Given the description of an element on the screen output the (x, y) to click on. 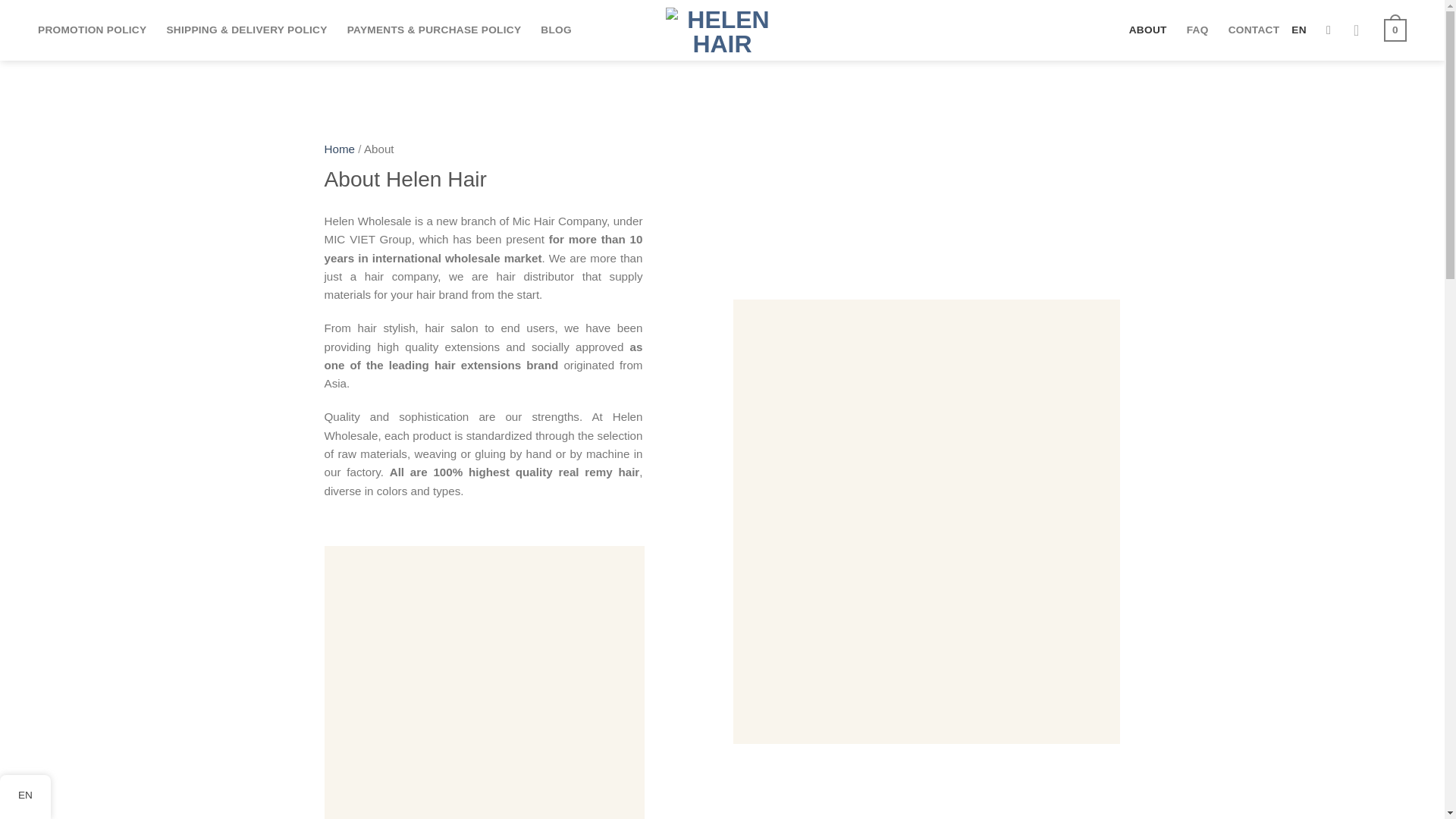
Helen Hair Global - Helen Hair Professional Extensions (721, 30)
Home (339, 148)
PROMOTION POLICY (92, 30)
